Given the description of an element on the screen output the (x, y) to click on. 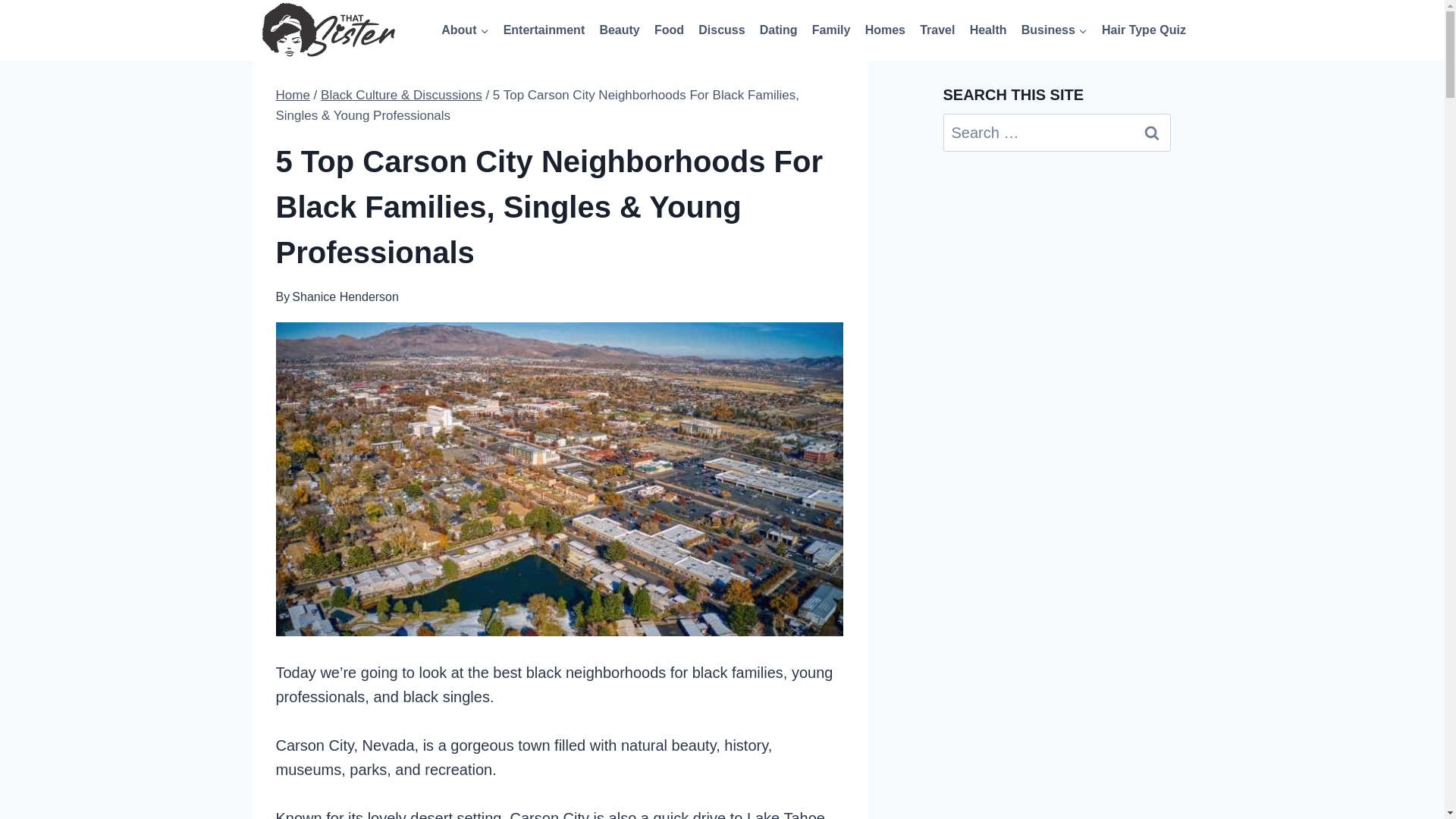
Search (1151, 132)
Search (1151, 132)
Hair Type Quiz (1143, 30)
Business (1053, 30)
Health (987, 30)
Family (831, 30)
Beauty (619, 30)
Food (668, 30)
Travel (937, 30)
Homes (884, 30)
